Given the description of an element on the screen output the (x, y) to click on. 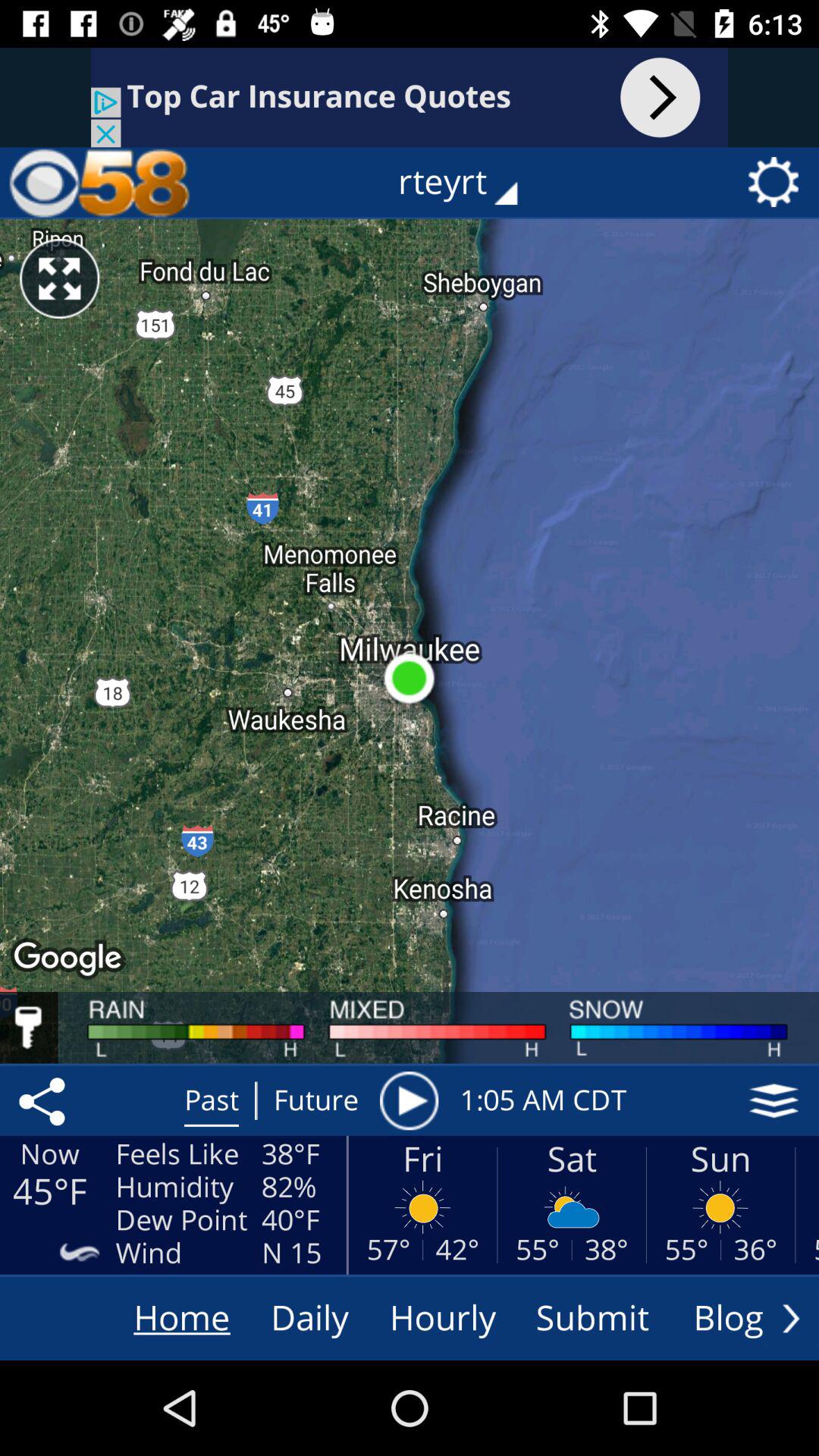
open the icon next to future item (409, 1100)
